Given the description of an element on the screen output the (x, y) to click on. 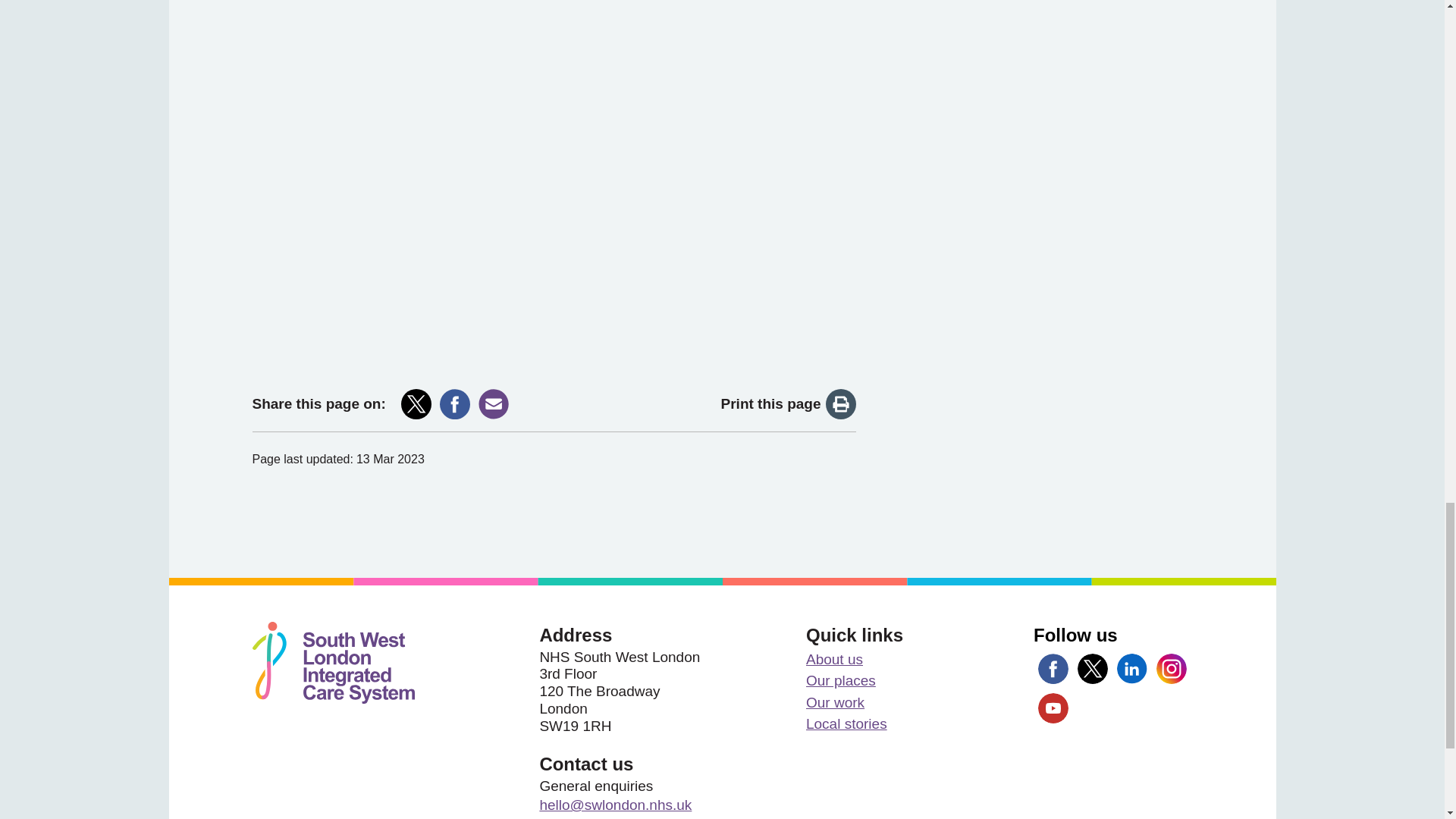
South West London ICS Homepage (332, 662)
Share via Email (493, 404)
Share on X (415, 404)
Share on Facebook (454, 404)
